Given the description of an element on the screen output the (x, y) to click on. 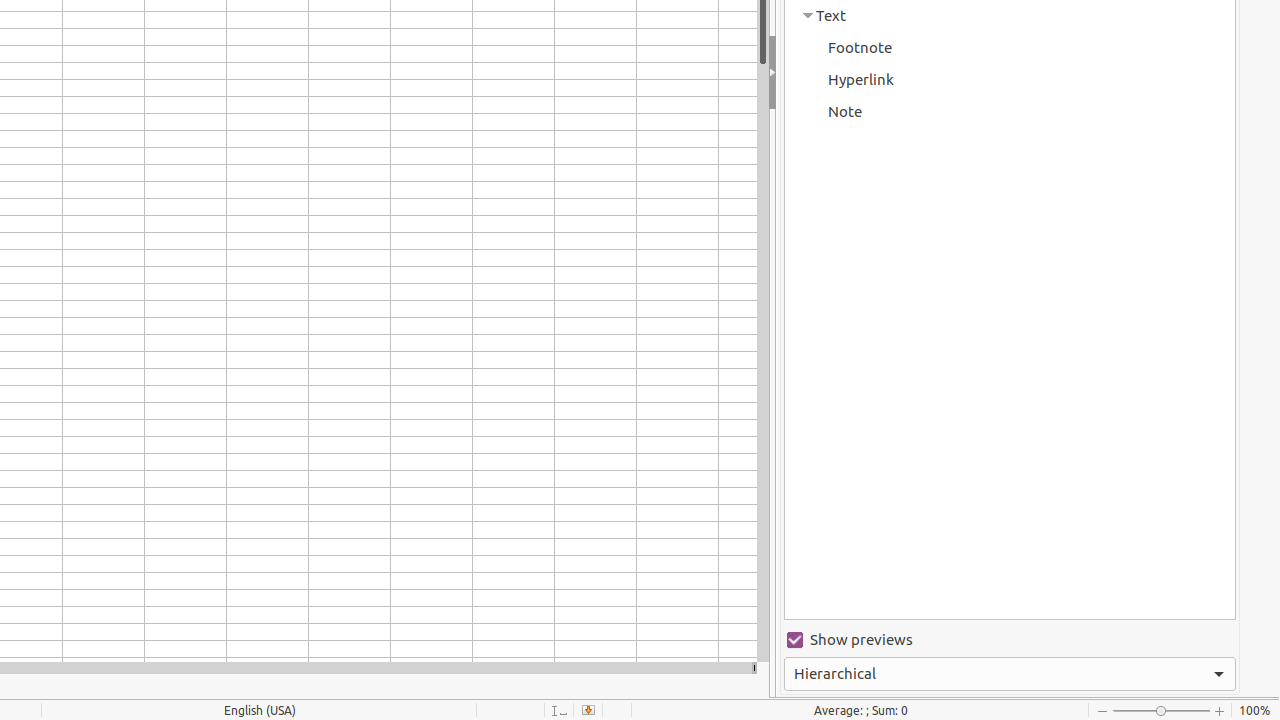
Show previews Element type: check-box (1010, 640)
